Given the description of an element on the screen output the (x, y) to click on. 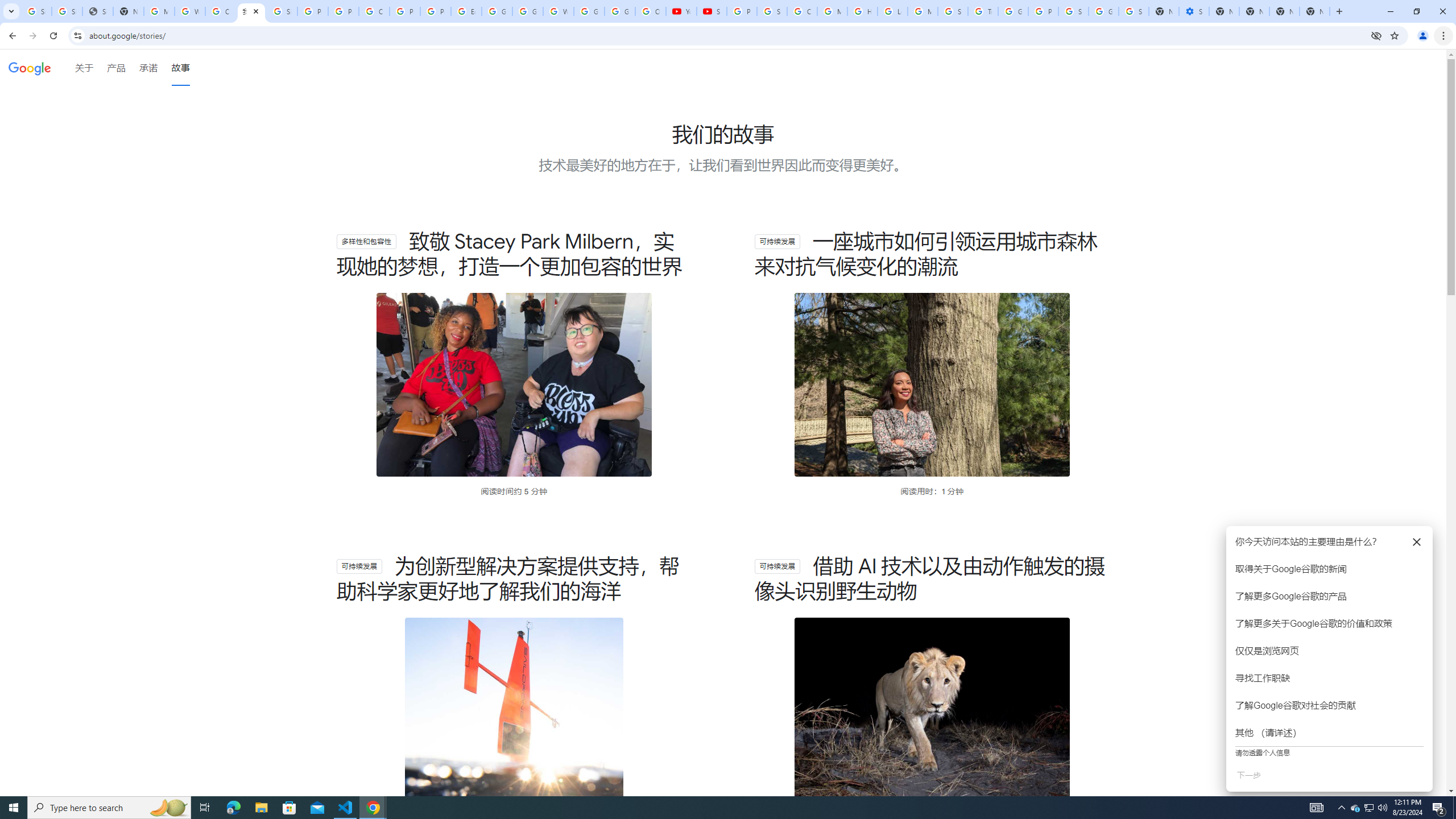
Create your Google Account (373, 11)
YouTube (681, 11)
